Given the description of an element on the screen output the (x, y) to click on. 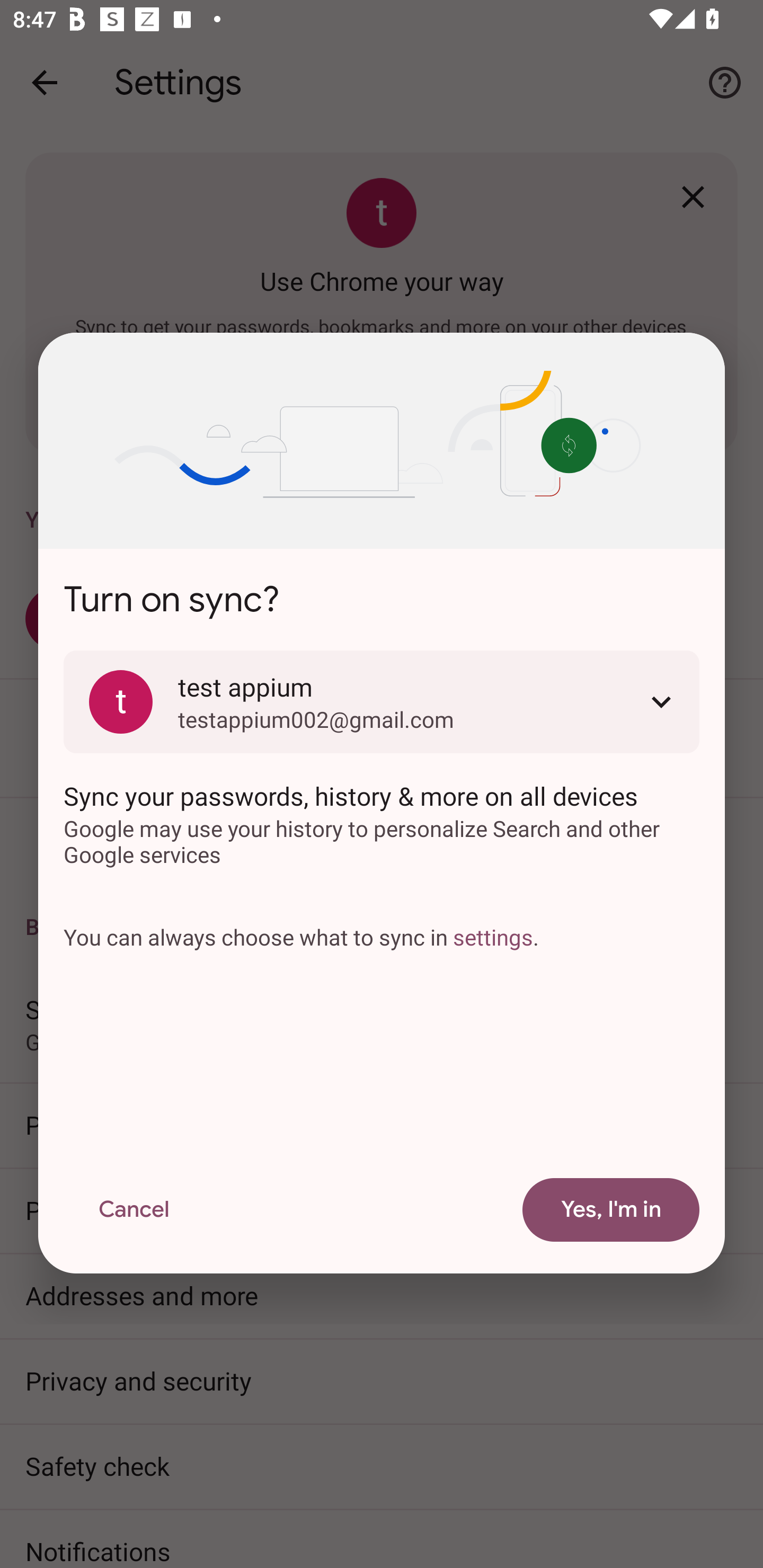
test appium testappium002@gmail.com (381, 701)
Cancel (133, 1209)
Yes, I'm in (610, 1209)
